Given the description of an element on the screen output the (x, y) to click on. 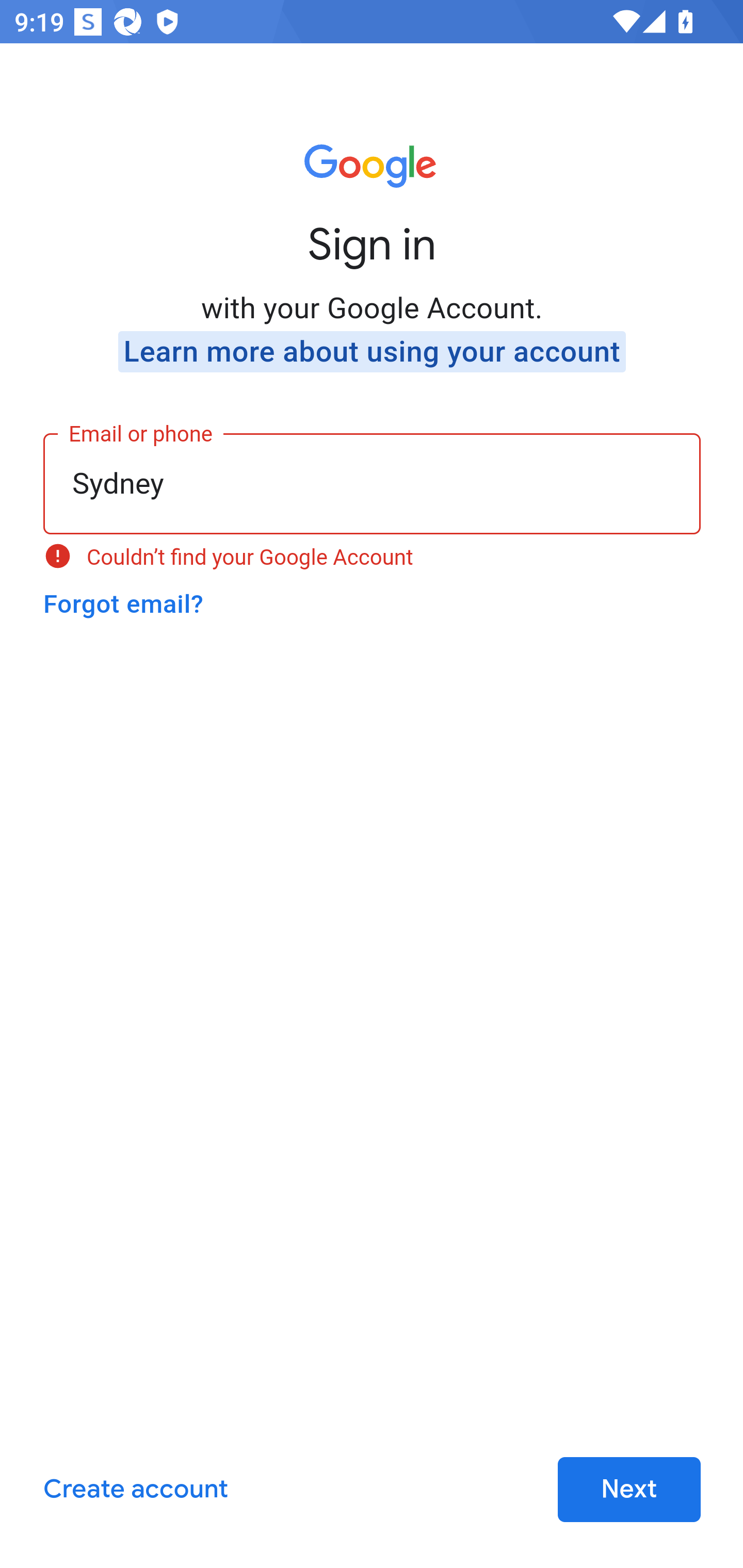
Learn more about using your account (371, 351)
Sydney (372, 481)
Forgot email? (123, 604)
Create account (134, 1490)
Next (629, 1490)
